Given the description of an element on the screen output the (x, y) to click on. 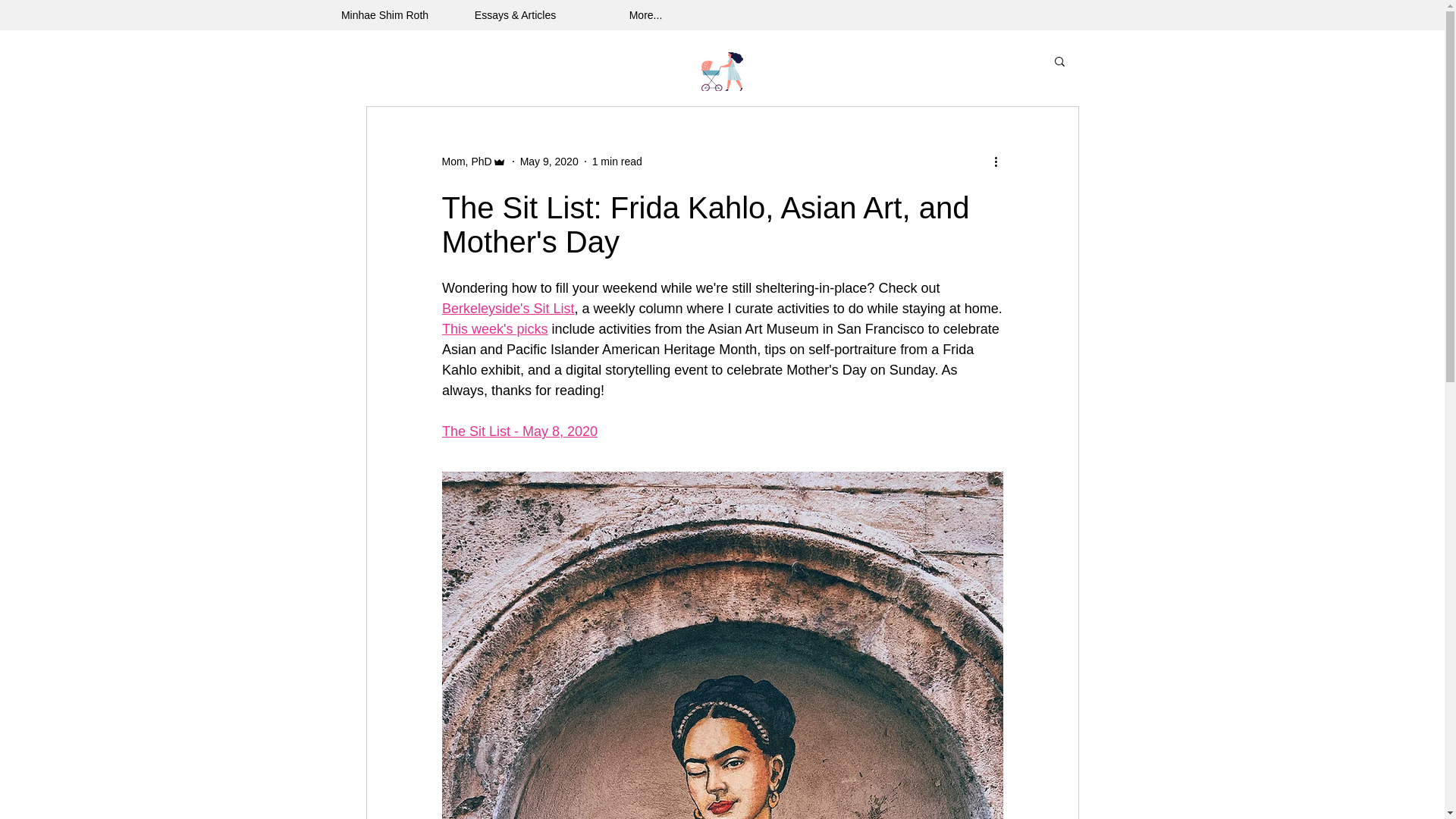
Berkeleyside's Sit List (507, 308)
This week's picks (494, 328)
May 9, 2020 (548, 160)
Minhae Shim Roth (384, 15)
1 min read (617, 160)
The Sit List - May 8, 2020 (518, 431)
Mom, PhD (466, 160)
